Given the description of an element on the screen output the (x, y) to click on. 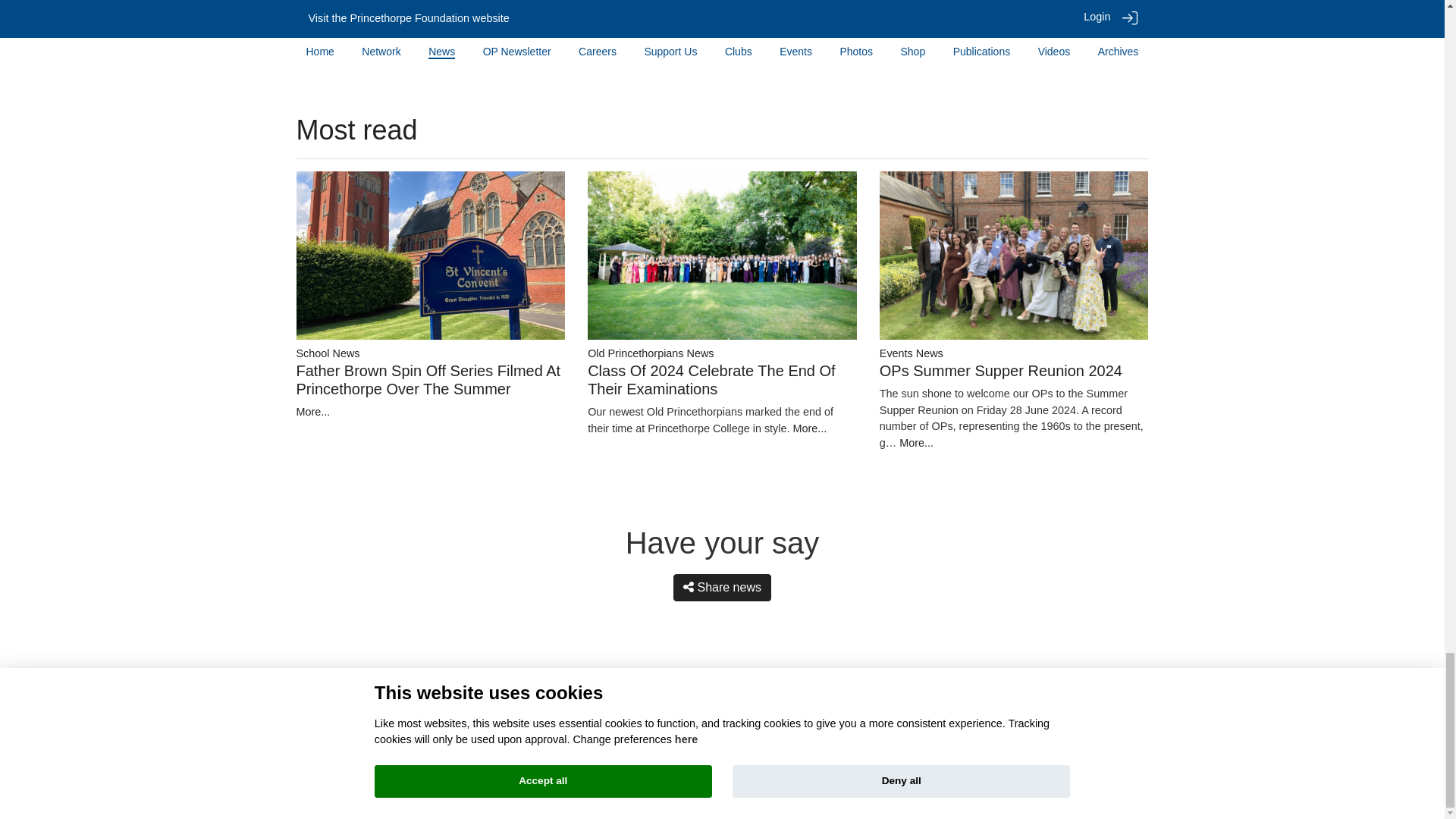
Twitter (667, 714)
Facebook (700, 714)
Instagram (732, 714)
SDS Archive (765, 714)
